Given the description of an element on the screen output the (x, y) to click on. 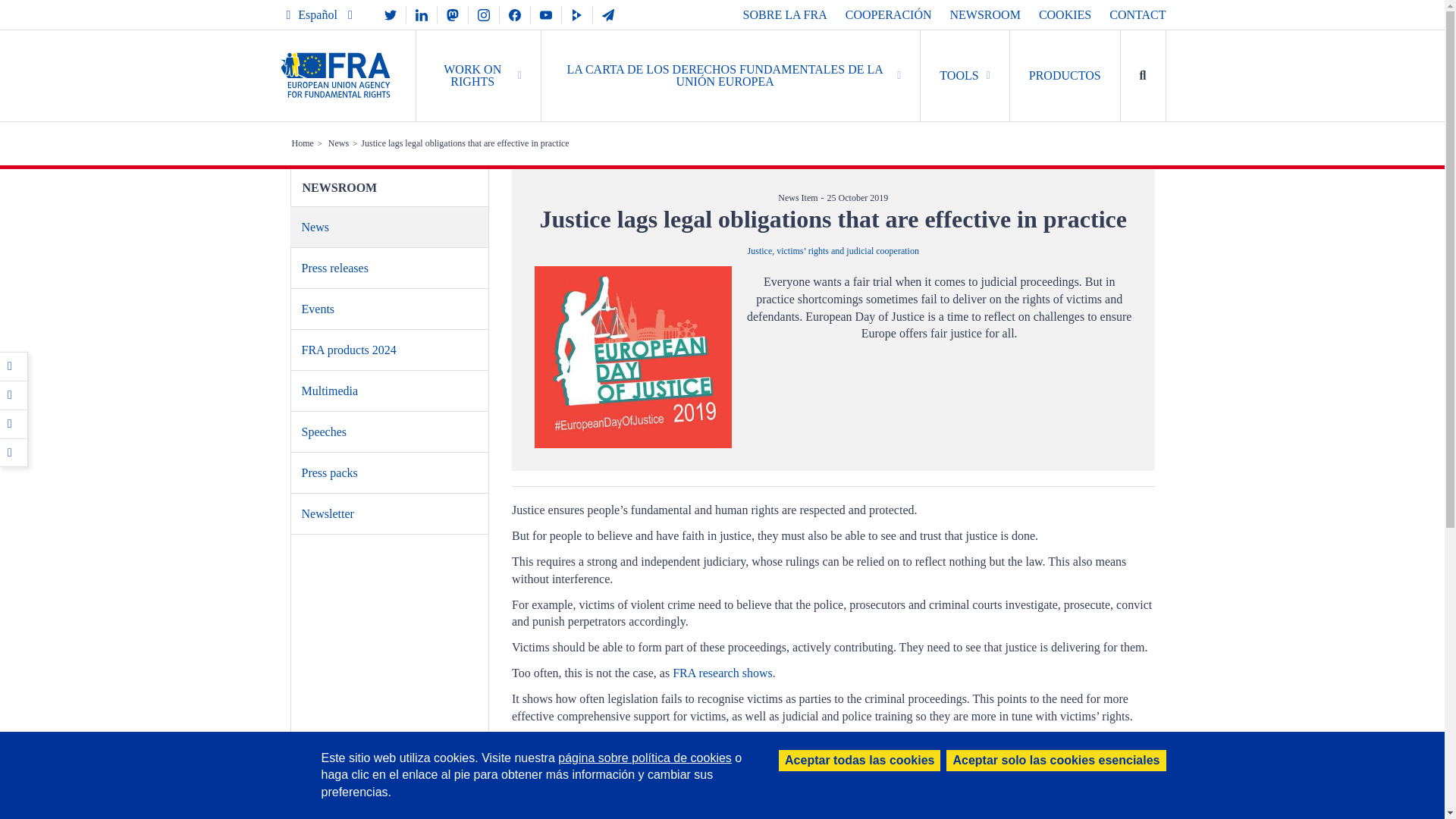
CONTACT (1137, 14)
PeerTube (577, 13)
LinkedIn (13, 423)
FRA's PeerTube channel (577, 13)
NEWSROOM (985, 14)
FRA's YouTube channel (545, 13)
Newsletter (607, 13)
Twitter (13, 394)
Subscribe to FRA's newsletter (607, 13)
Twitter (13, 394)
FRA's LinkedIn channel (421, 13)
Aceptar todas las cookies (859, 760)
COOKIES (1064, 14)
LinkedIn (13, 423)
FRA's Facebook channel (514, 13)
